Given the description of an element on the screen output the (x, y) to click on. 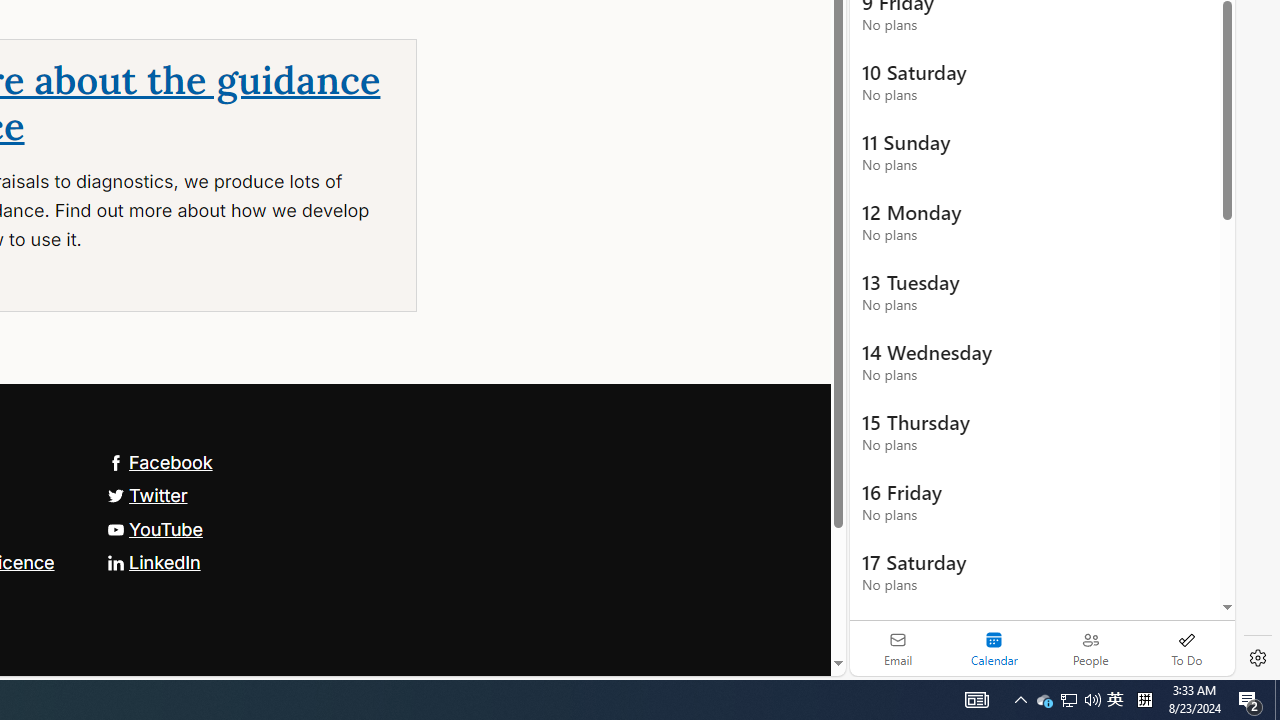
People (1090, 648)
To Do (1186, 648)
Selected calendar module. Date today is 22 (994, 648)
LinkedIn (153, 561)
Email (898, 648)
Twitter (147, 494)
YouTube (154, 528)
